Given the description of an element on the screen output the (x, y) to click on. 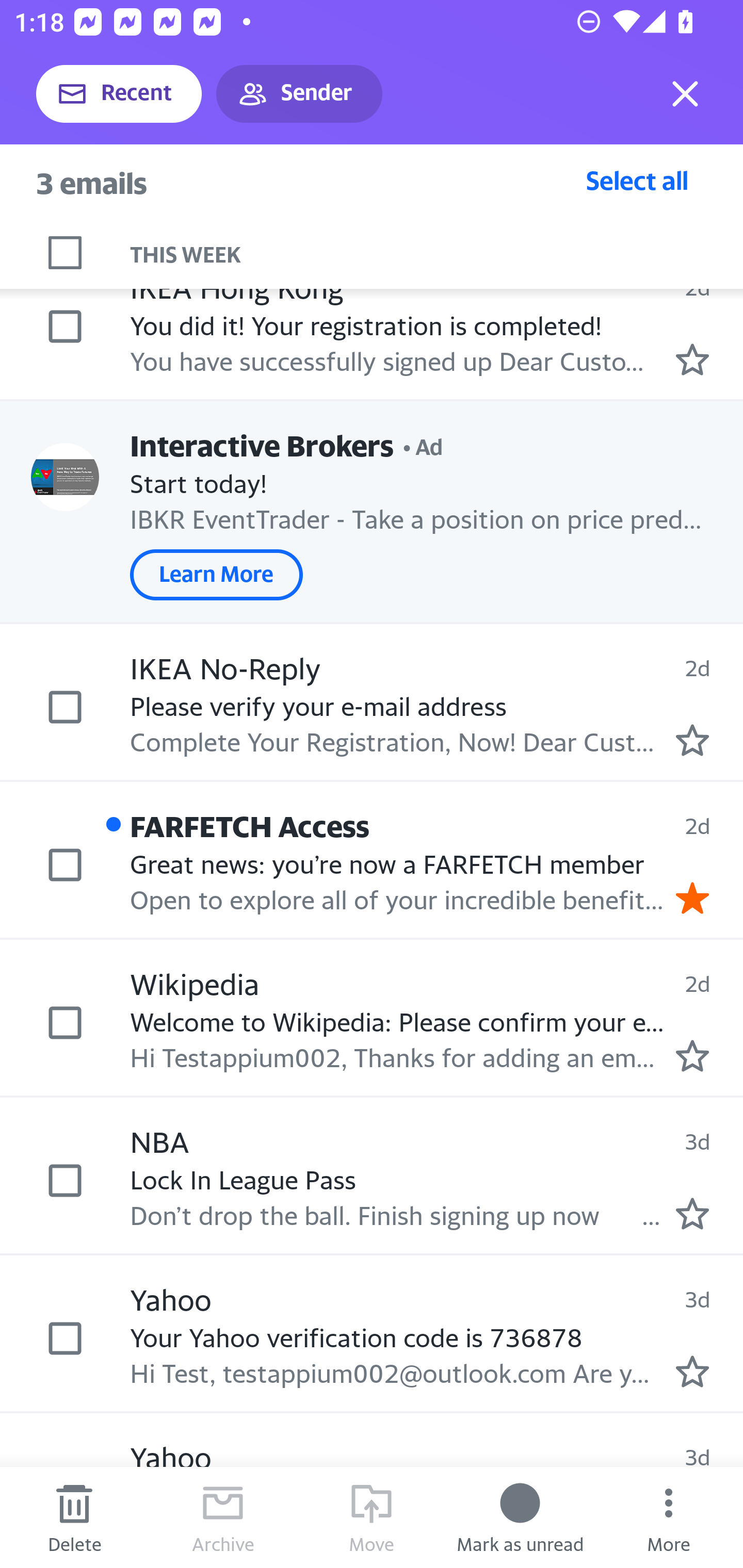
Sender (299, 93)
Exit selection mode (684, 93)
Select all (637, 180)
Mark as starred. (692, 359)
Mark as starred. (692, 740)
Remove star. (692, 897)
Mark as starred. (692, 1056)
Mark as starred. (692, 1213)
Mark as starred. (692, 1371)
Delete (74, 1517)
Archive (222, 1517)
Move (371, 1517)
Mark as unread (519, 1517)
More (668, 1517)
